Given the description of an element on the screen output the (x, y) to click on. 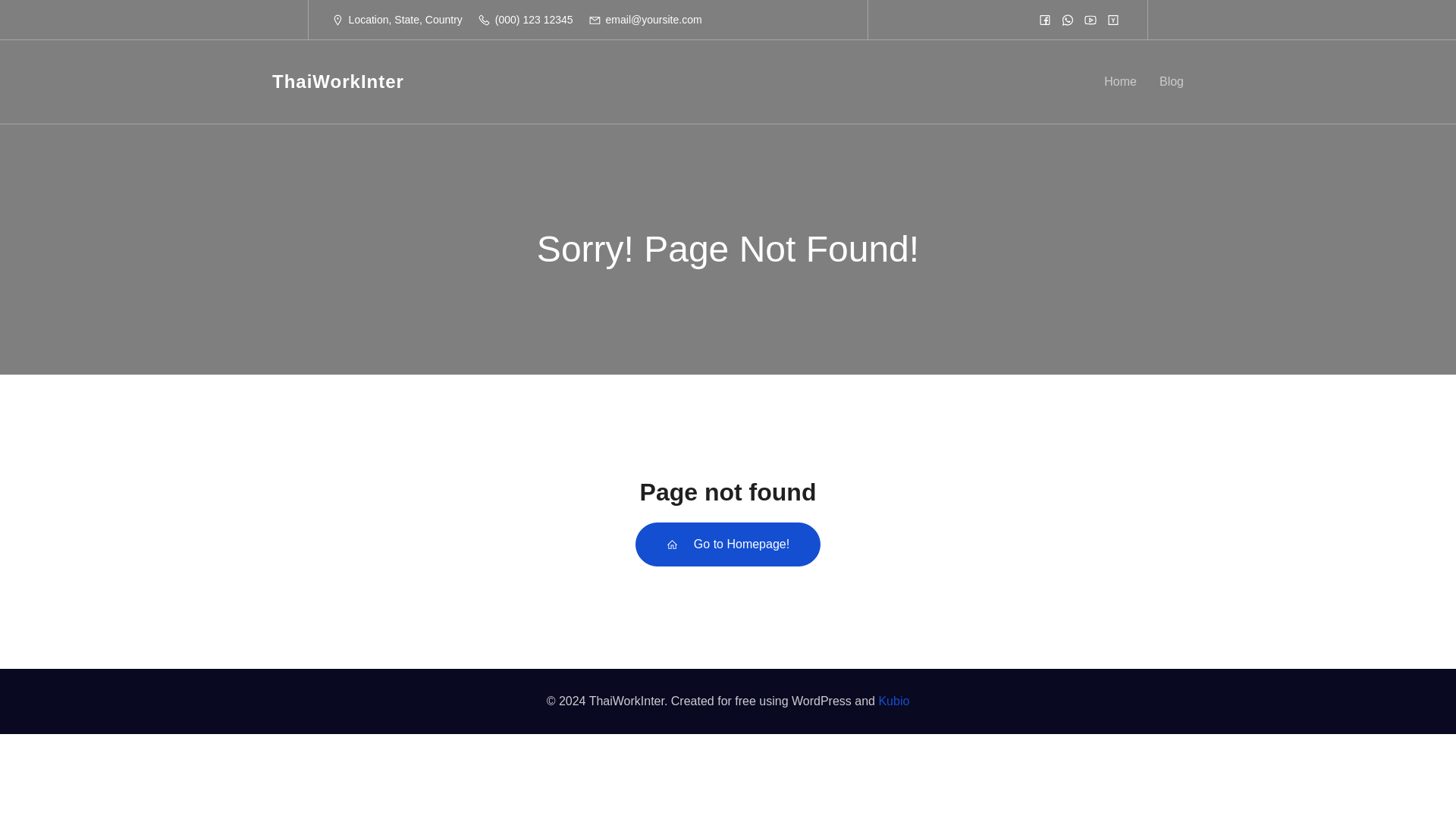
Go to Homepage! (727, 544)
ThaiWorkInter (338, 81)
Home (1120, 81)
Kubio (892, 700)
